Given the description of an element on the screen output the (x, y) to click on. 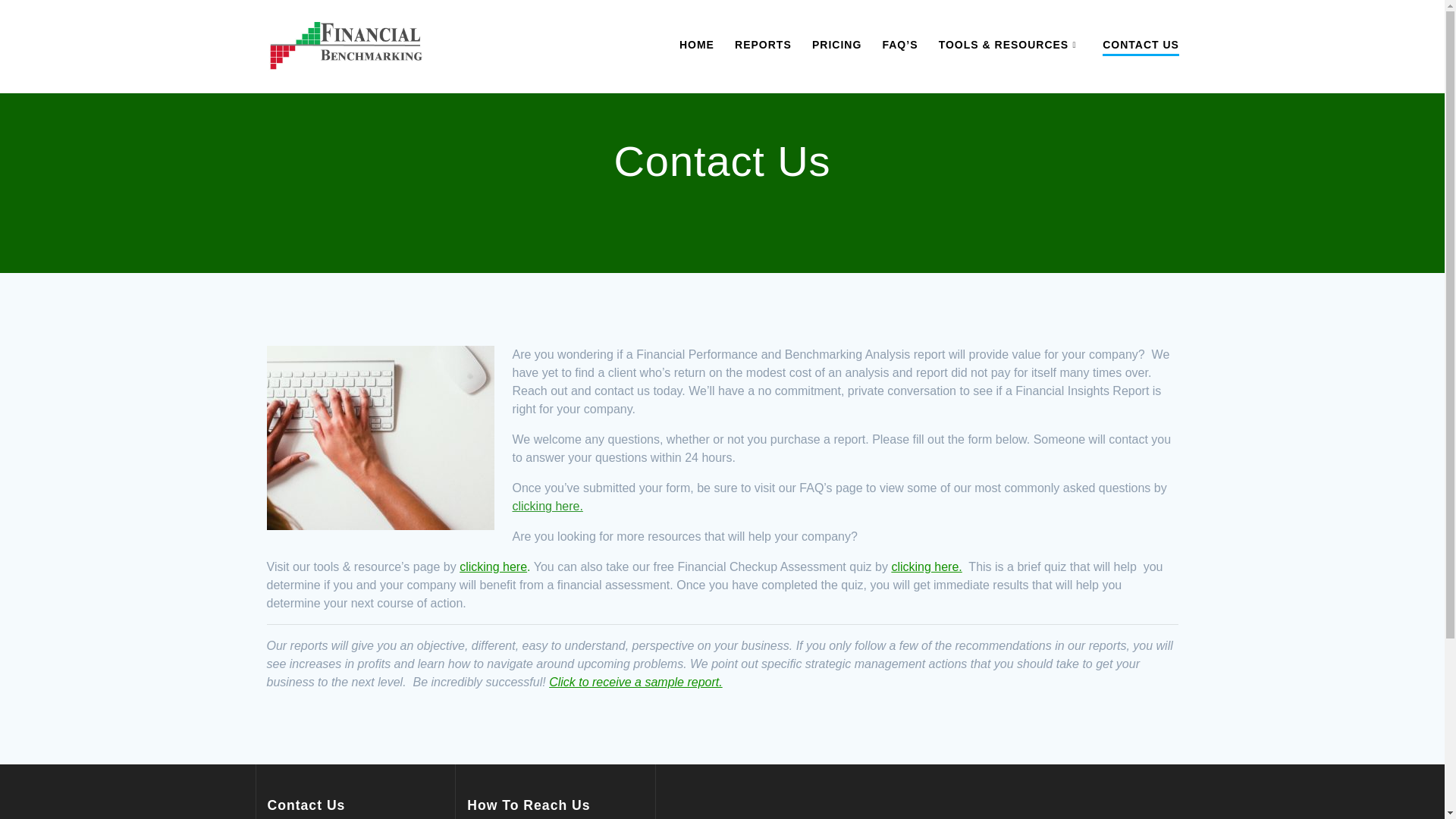
clicking here. (547, 505)
CONTACT US (1140, 45)
PRICING (836, 44)
clicking here (493, 566)
HOME (696, 44)
clicking here. (925, 566)
REPORTS (763, 44)
Click to receive a sample report. (635, 681)
